Given the description of an element on the screen output the (x, y) to click on. 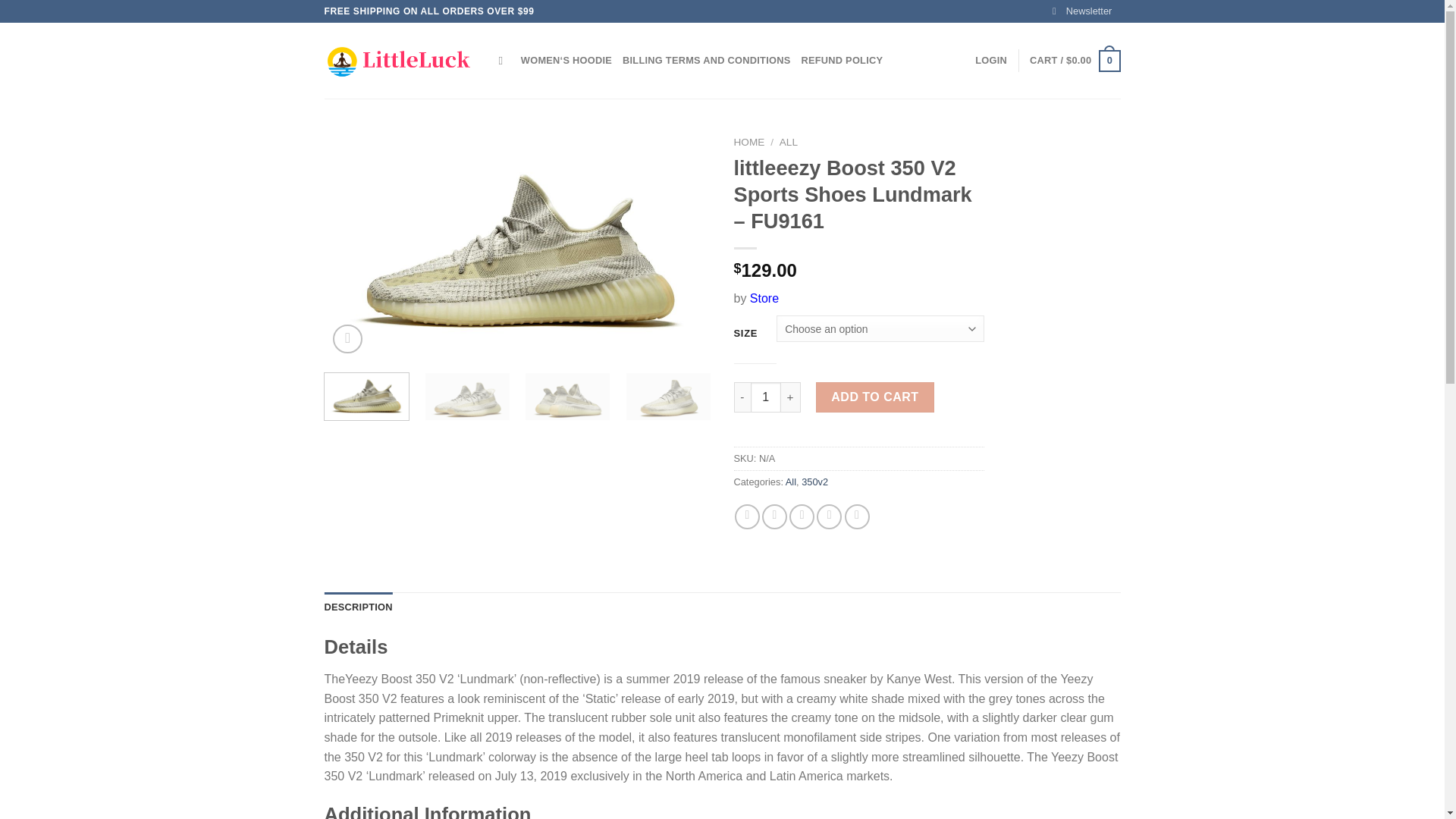
Newsletter (1082, 11)
350v2 (815, 481)
All (791, 481)
Cart (1074, 61)
ADD TO CART (874, 397)
Qty (765, 397)
LOGIN (991, 60)
ALL (787, 142)
1 (765, 397)
REFUND POLICY (841, 60)
